Given the description of an element on the screen output the (x, y) to click on. 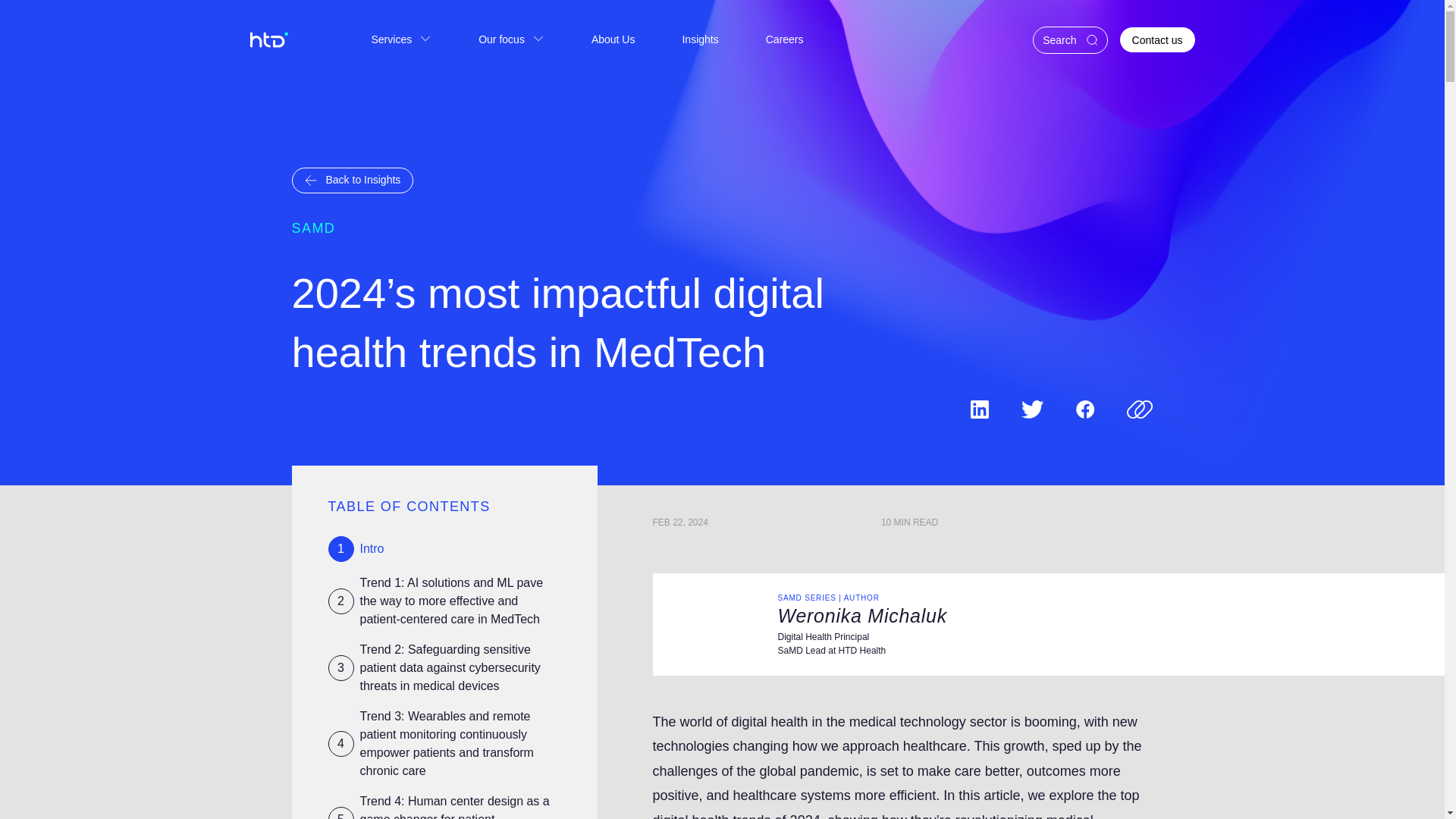
Go to Insights (700, 39)
Go to homepage (268, 39)
Contact us (1157, 39)
Services (400, 40)
Go to About Us (613, 39)
Search (1069, 39)
Insights (700, 39)
Contact us (1157, 39)
Go to Careers (784, 39)
About Us (613, 39)
Go to search page (1069, 39)
Careers (784, 39)
Our focus (511, 40)
